Given the description of an element on the screen output the (x, y) to click on. 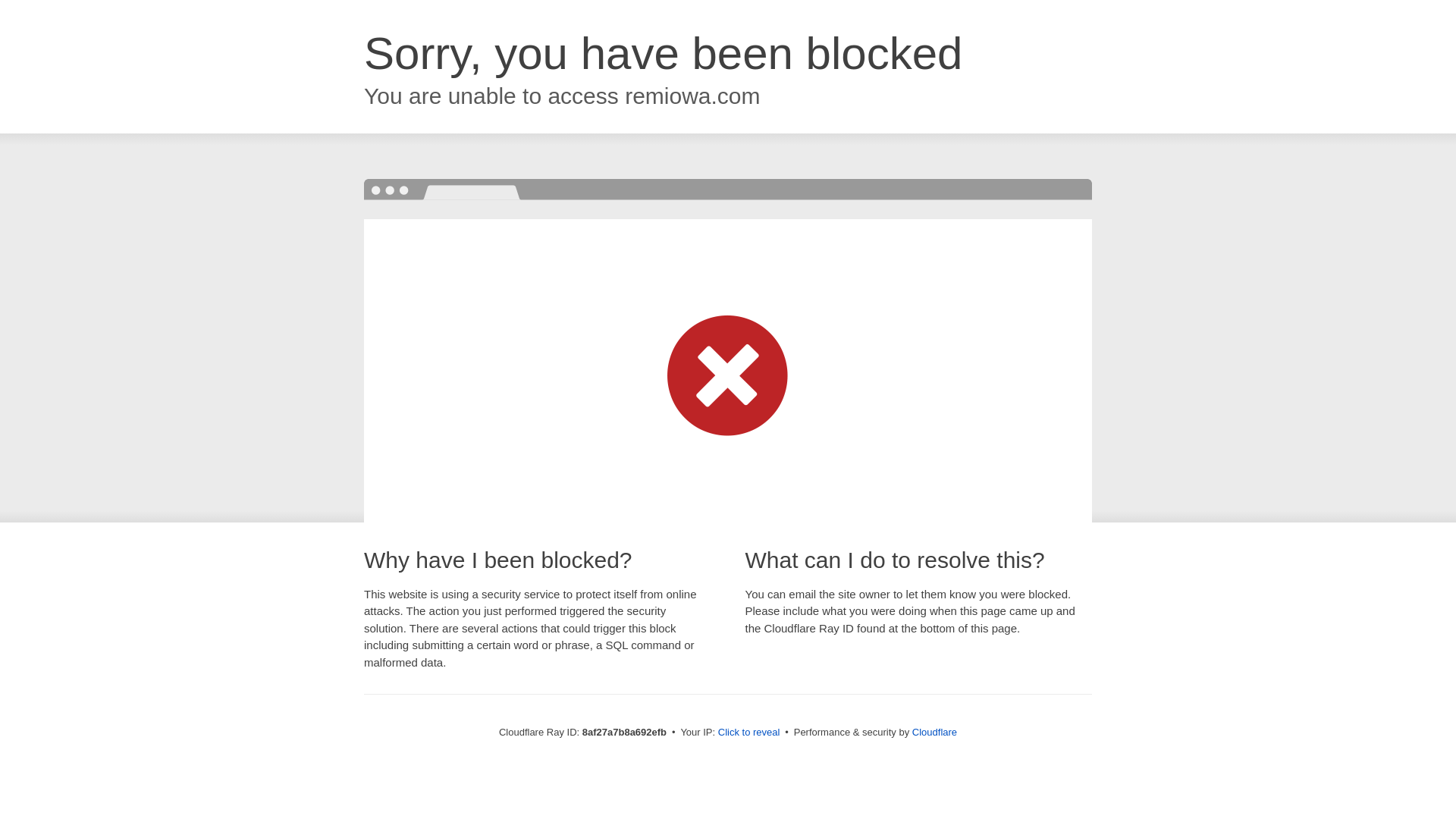
Cloudflare (934, 731)
Click to reveal (748, 732)
